Given the description of an element on the screen output the (x, y) to click on. 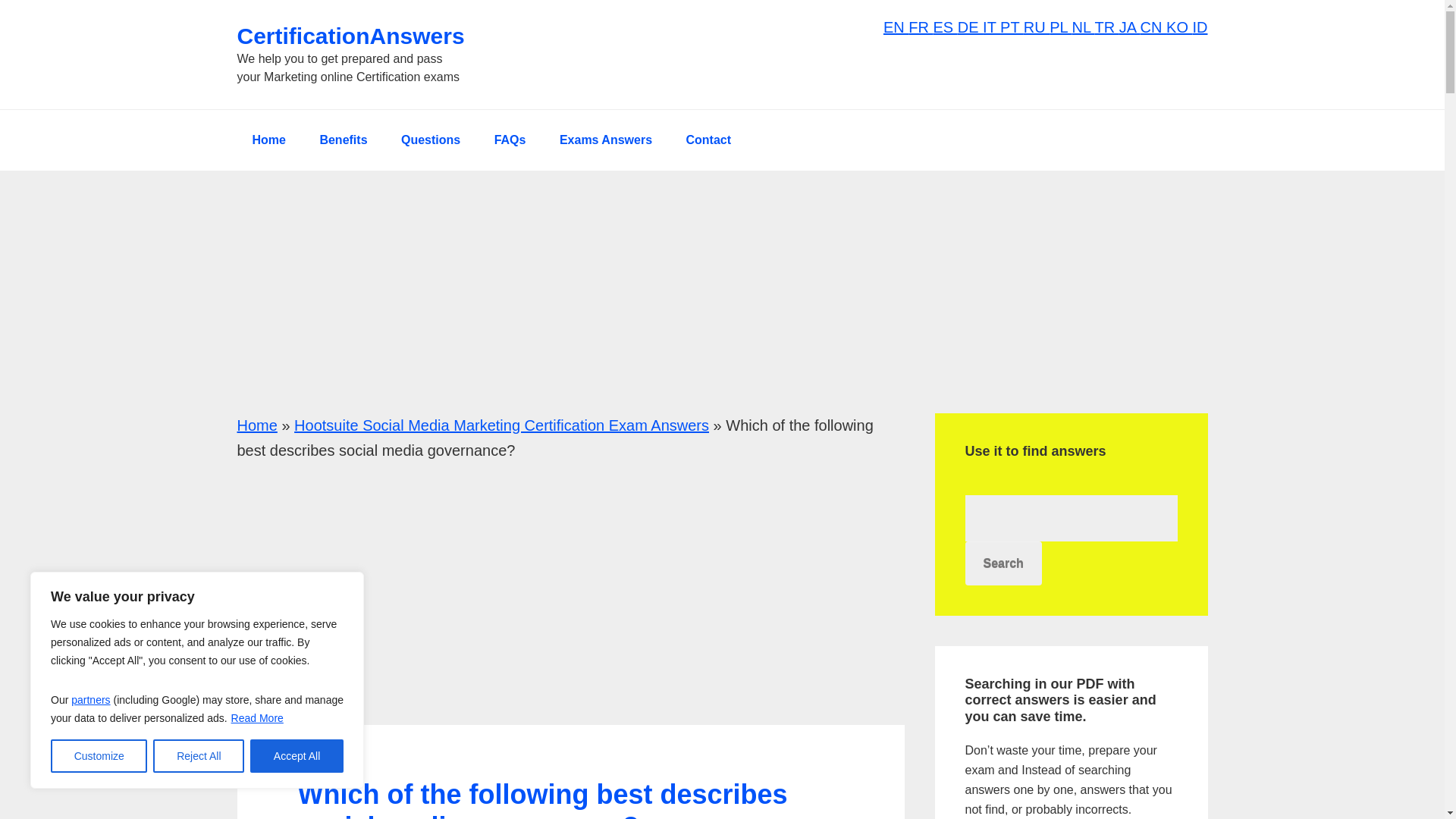
EN (895, 27)
Exams Answers (605, 139)
NL (1082, 27)
FAQs (510, 139)
Benefits (342, 139)
Accept All (296, 756)
PT (1011, 27)
KO (1179, 27)
partners (90, 699)
Reject All (198, 756)
TR (1106, 27)
FR (920, 27)
IT (991, 27)
ES (944, 27)
